Given the description of an element on the screen output the (x, y) to click on. 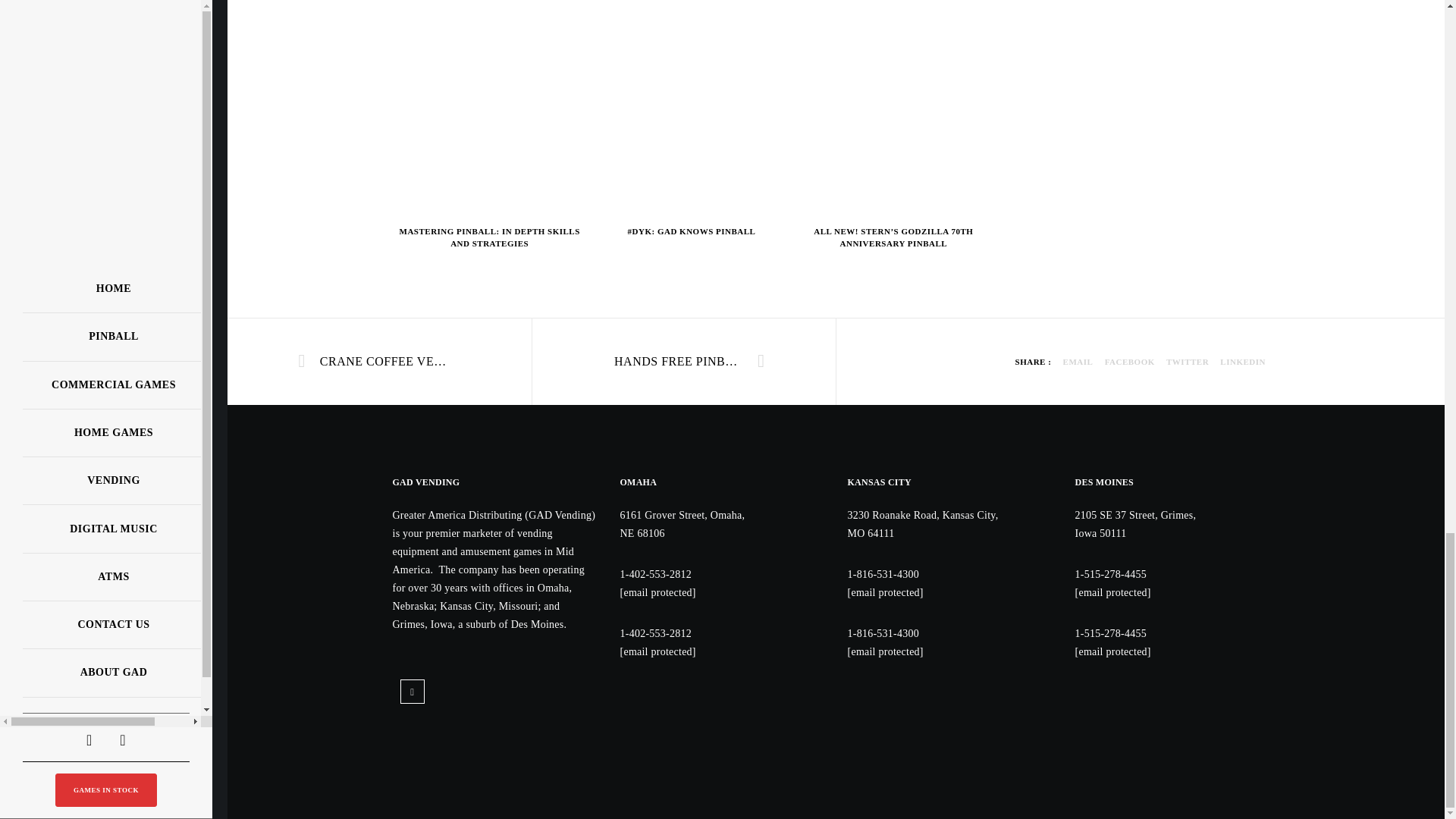
Should you buy a new Stern Pinball Machine? (1129, 361)
Should you buy a new Stern Pinball Machine? (1077, 361)
EMAIL (1077, 361)
Should you buy a new Stern Pinball Machine? (1242, 361)
Should you buy a new Stern Pinball Machine? (1187, 361)
Greater America Distributing (1132, 725)
MASTERING PINBALL: IN DEPTH SKILLS AND STRATEGIES (489, 237)
